Given the description of an element on the screen output the (x, y) to click on. 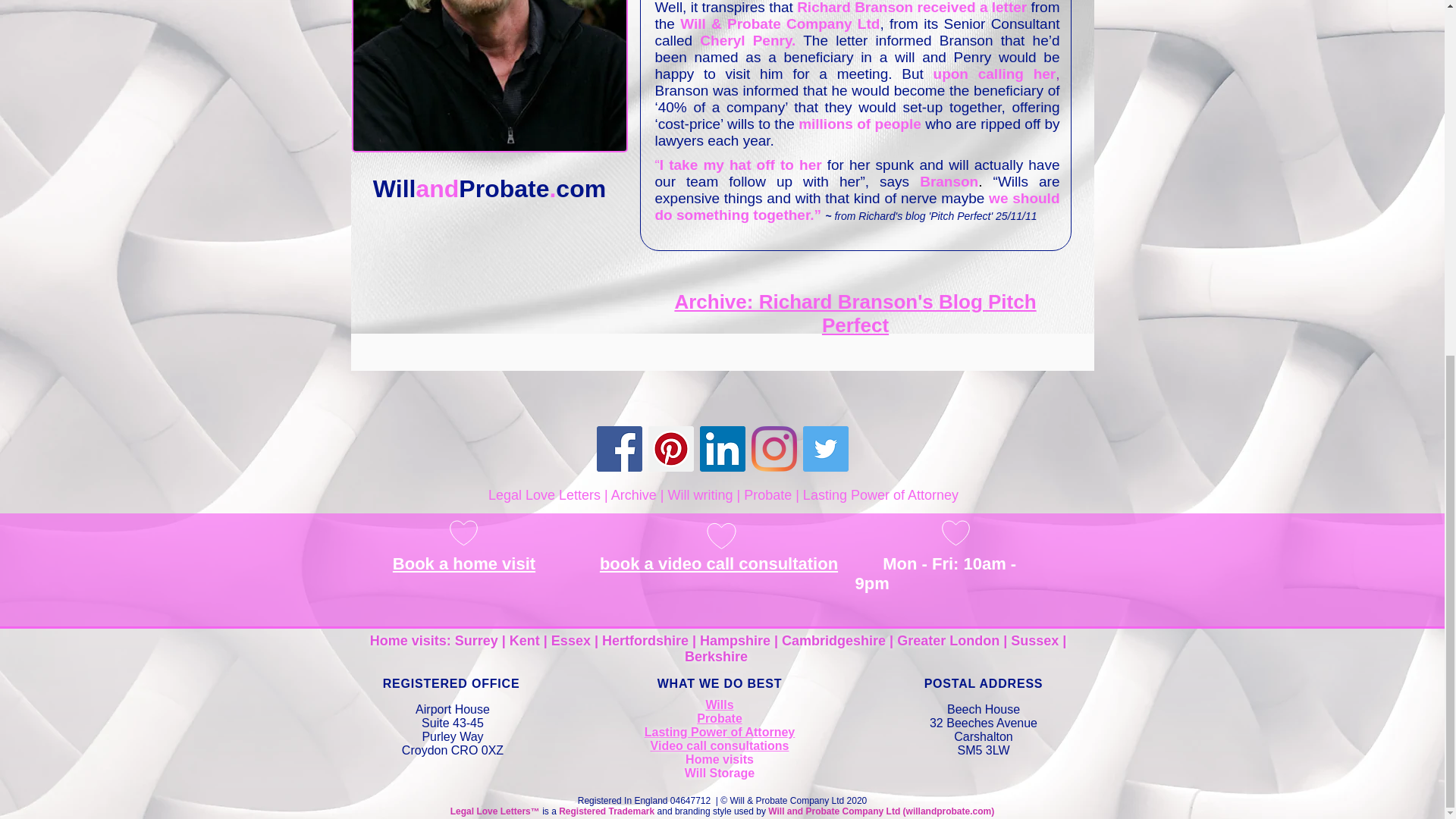
Archive: Richard Branson's Blog Pitch Perfect (854, 313)
Book a home visit (464, 563)
book a video call consultation (718, 563)
Wills (718, 704)
Probate (719, 717)
Video call consultations (719, 745)
Lasting Power of Attorney (719, 731)
